Given the description of an element on the screen output the (x, y) to click on. 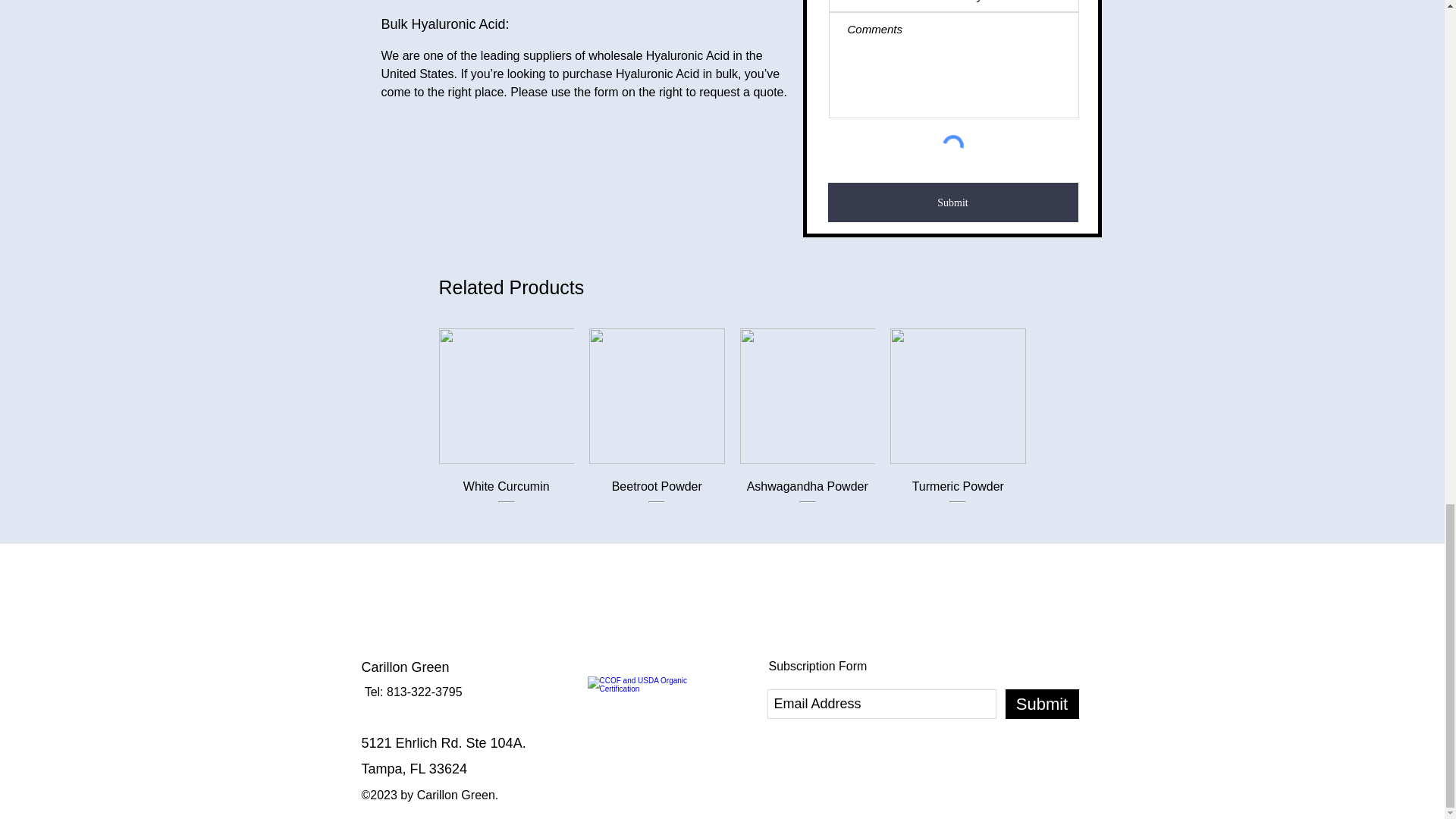
Ashwagandha Powder (807, 501)
Beetroot Powder (657, 501)
White Curcumin (505, 501)
Submit (953, 201)
Turmeric Powder (957, 501)
